Given the description of an element on the screen output the (x, y) to click on. 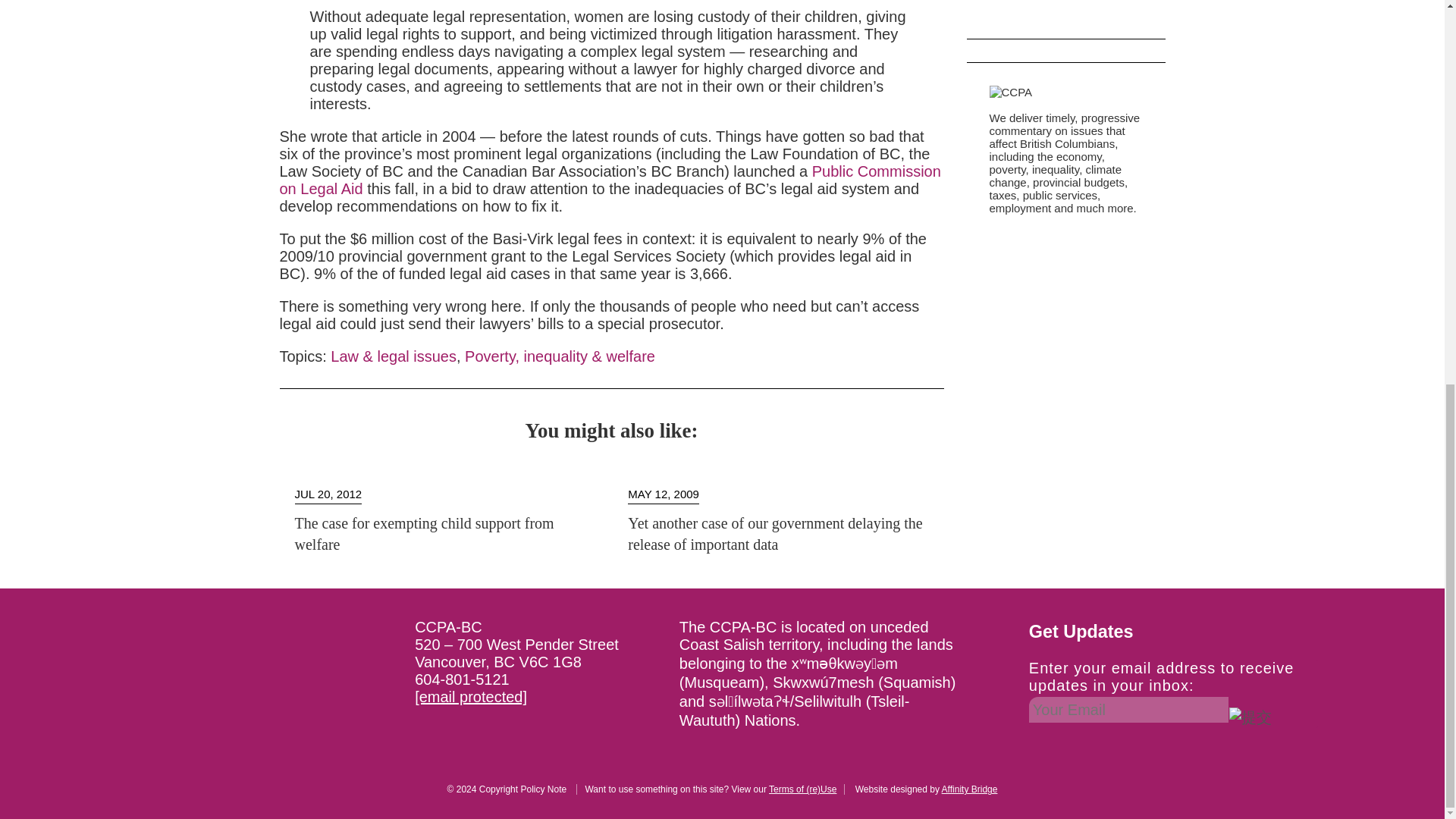
Affinity Bridge (969, 788)
The case for exempting child support from welfare (423, 533)
Public Commission on Legal Aid (609, 179)
Public Commission on Legal Aid (609, 179)
Terms (801, 788)
The case for exempting child support from welfare (423, 533)
Affinity Bridge (969, 788)
